Given the description of an element on the screen output the (x, y) to click on. 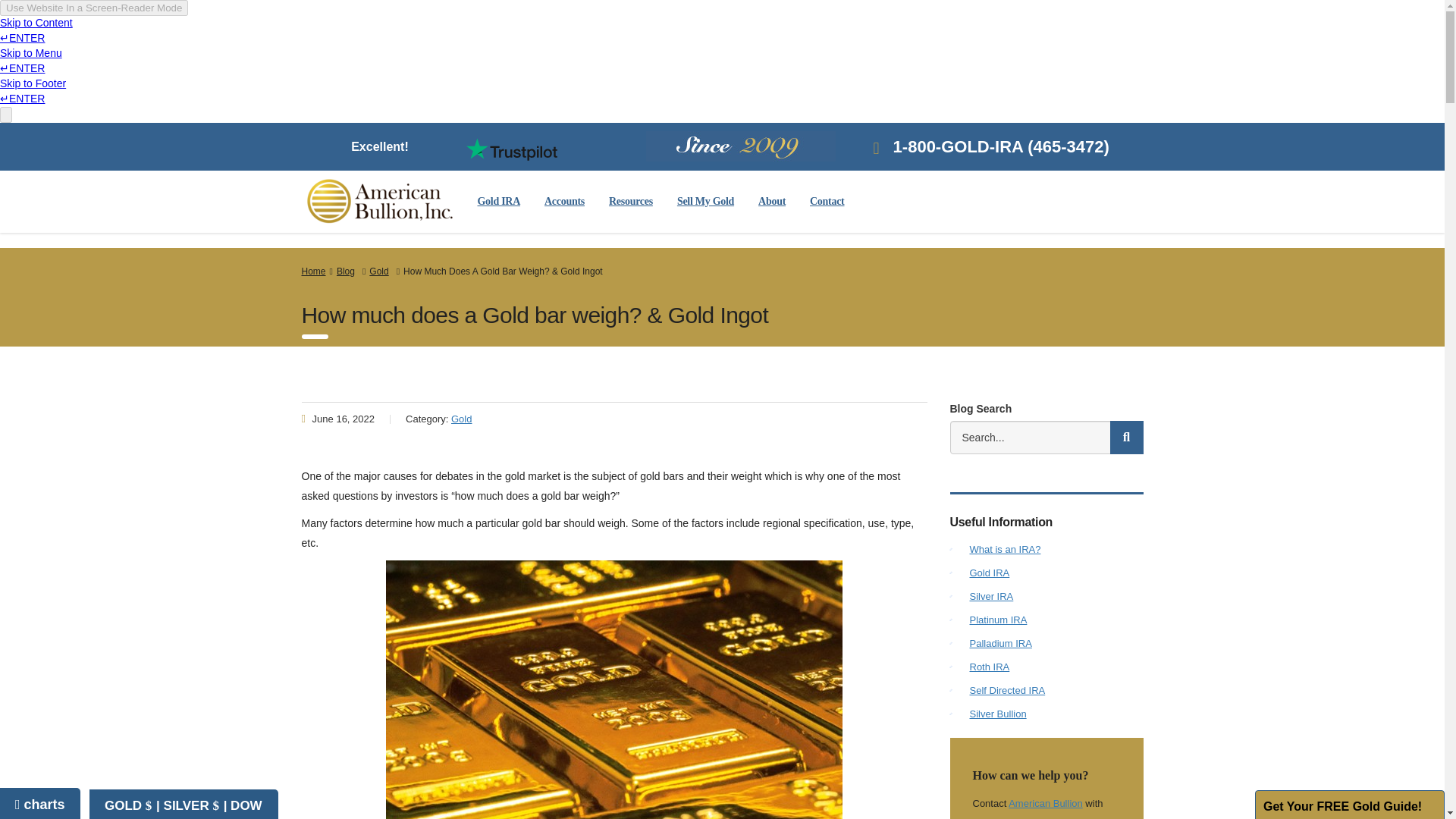
Go to Blog. (347, 271)
Customer reviews powered by Trustpilot (511, 149)
Go to American Bullion. (313, 271)
Go to the Gold category archives. (380, 271)
Gold IRA (498, 201)
